Given the description of an element on the screen output the (x, y) to click on. 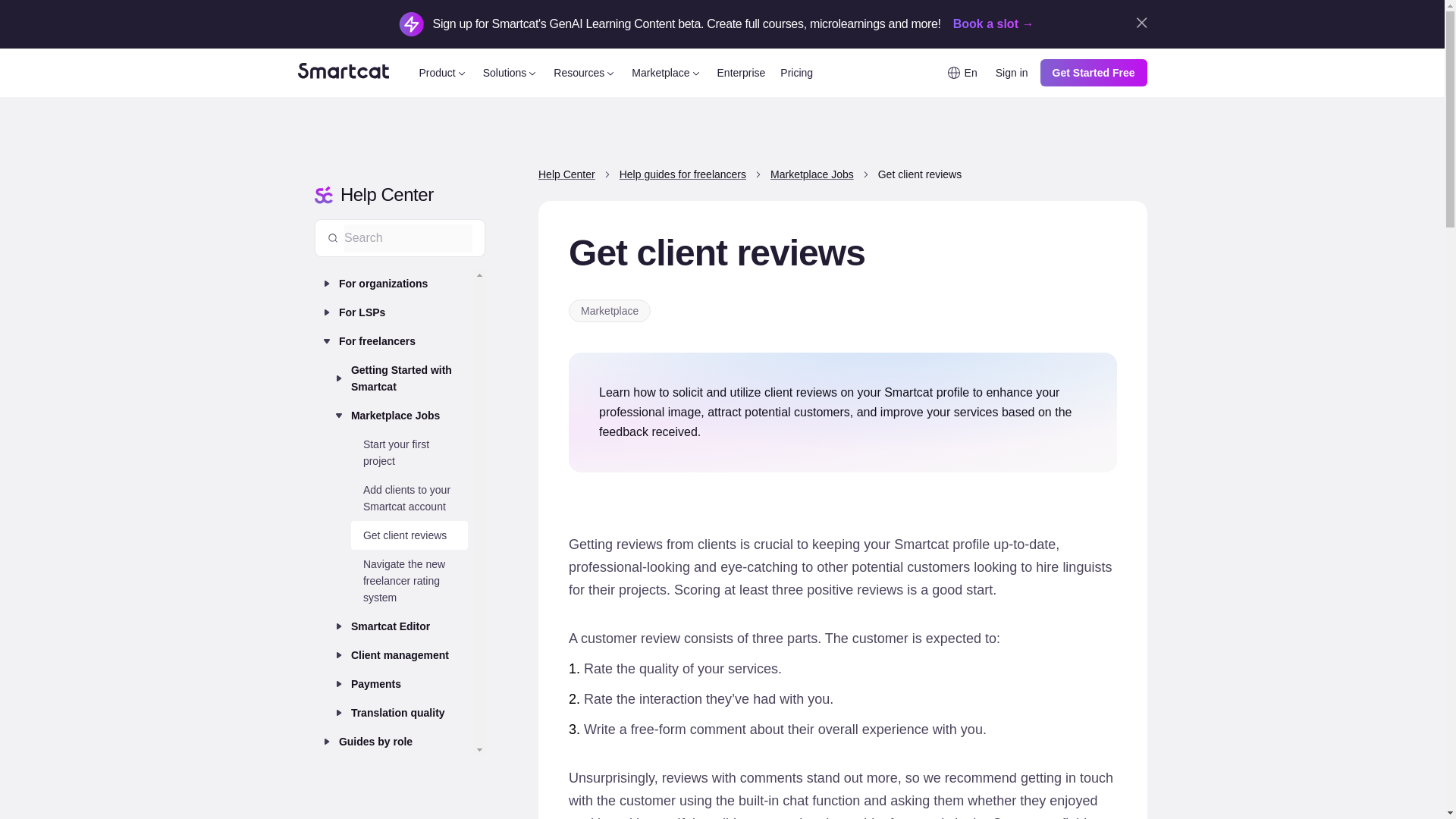
Resources (585, 72)
Help Center (399, 194)
en (963, 72)
Enterprise (741, 72)
Solutions (510, 72)
Pricing (796, 72)
Product (442, 72)
Sign in (1011, 72)
Marketplace (666, 72)
Get Started Free (1094, 72)
